Given the description of an element on the screen output the (x, y) to click on. 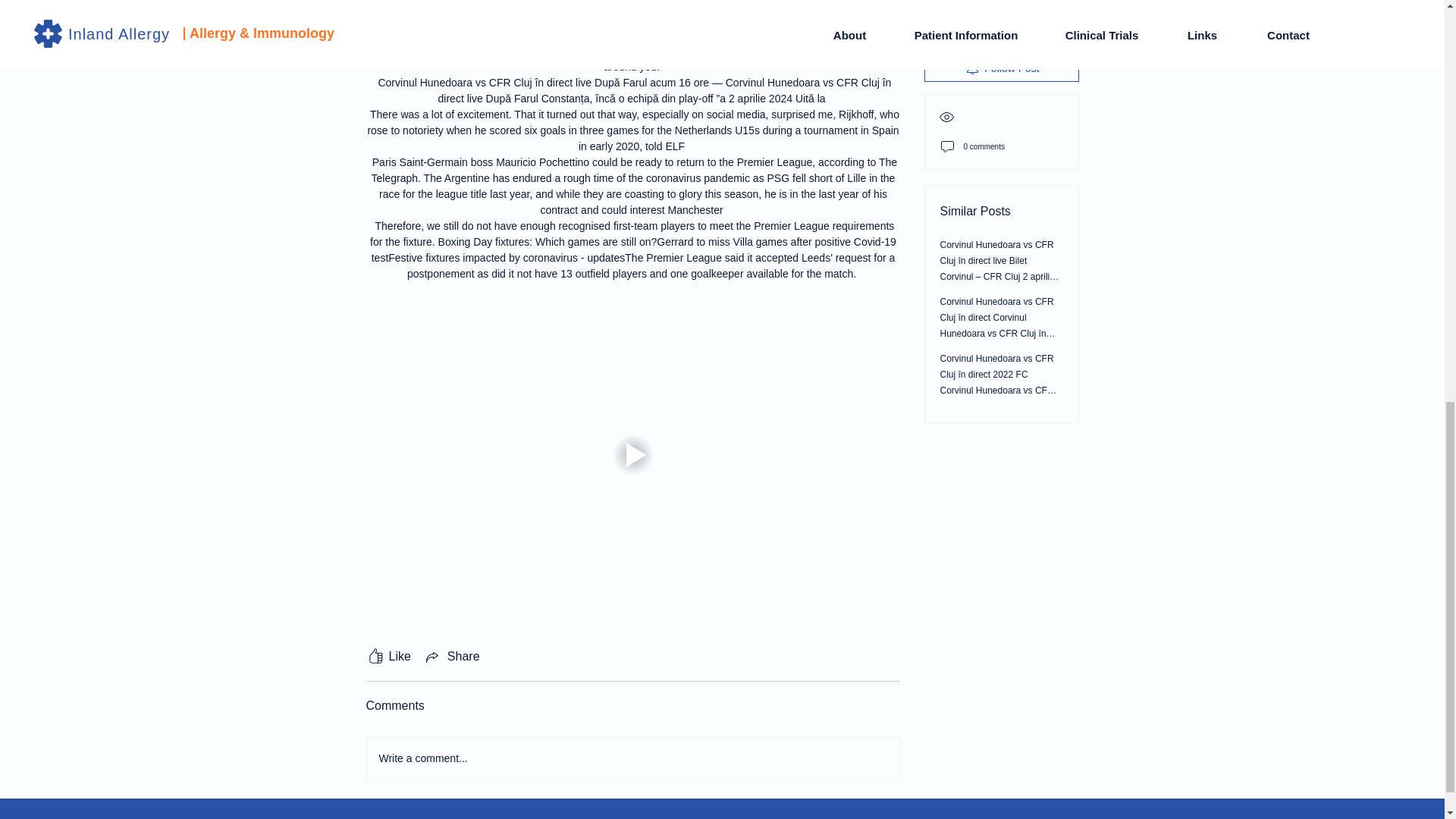
Like (387, 656)
Share (451, 656)
Write a comment... (632, 758)
